Given the description of an element on the screen output the (x, y) to click on. 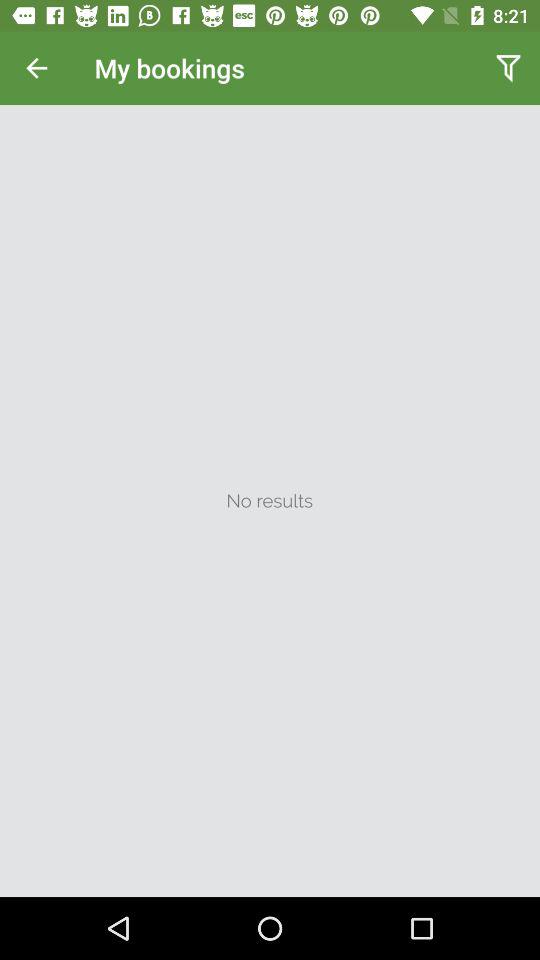
no results (270, 501)
